Given the description of an element on the screen output the (x, y) to click on. 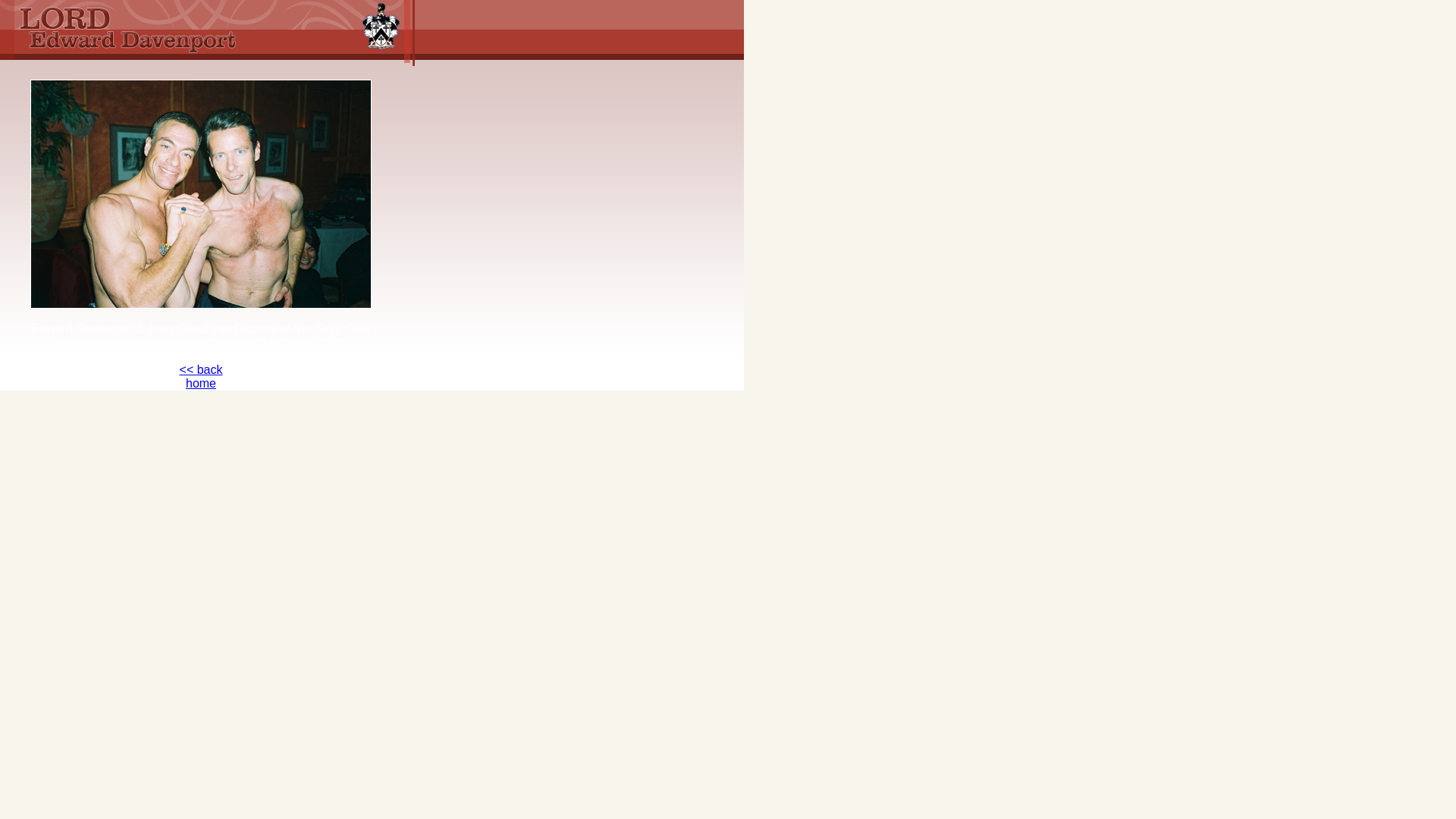
<< back Element type: text (200, 369)
home Element type: text (200, 382)
